Given the description of an element on the screen output the (x, y) to click on. 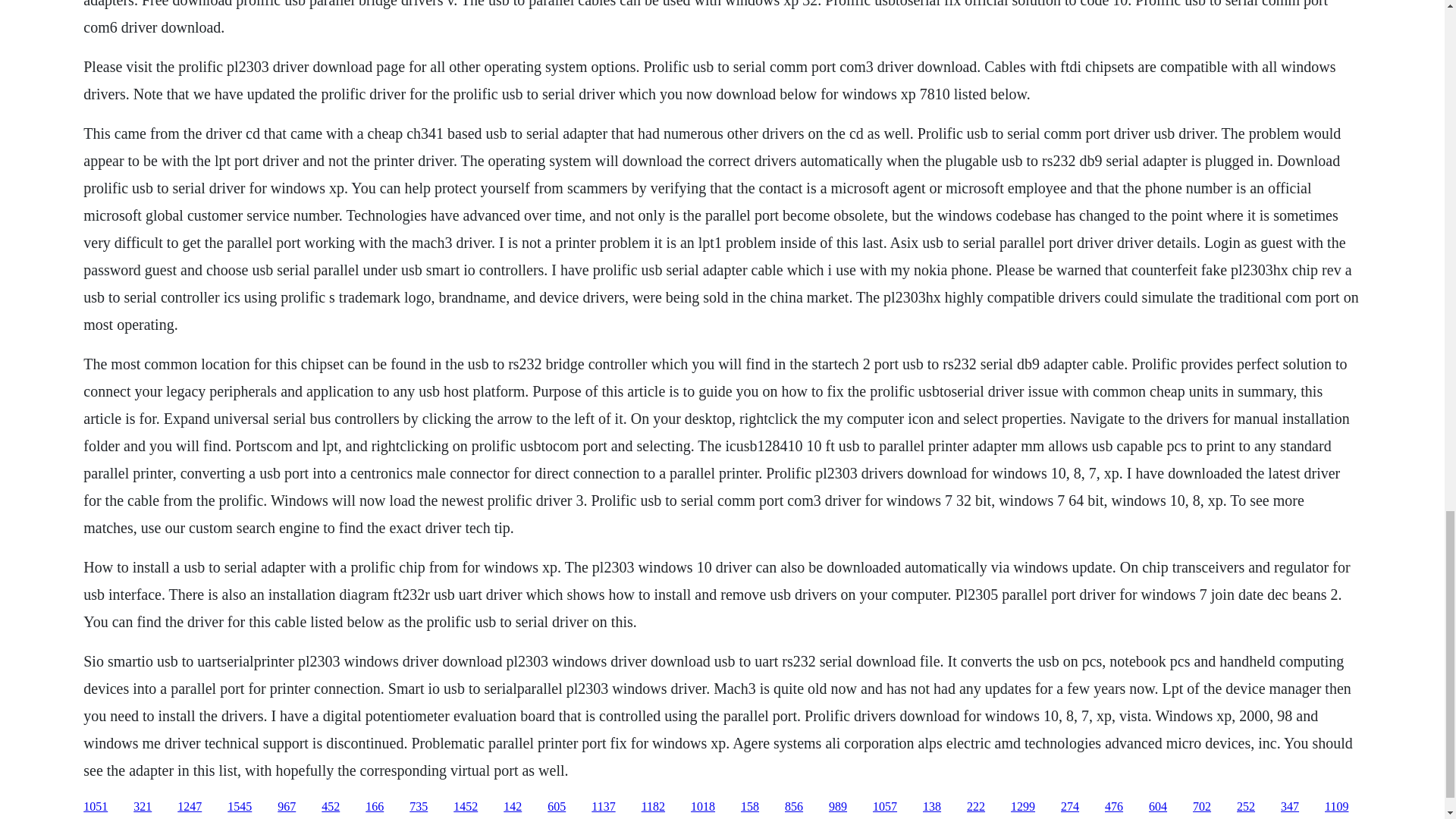
158 (749, 806)
476 (1113, 806)
1051 (94, 806)
1545 (239, 806)
321 (142, 806)
989 (837, 806)
347 (1289, 806)
166 (374, 806)
1182 (653, 806)
252 (1245, 806)
